Given the description of an element on the screen output the (x, y) to click on. 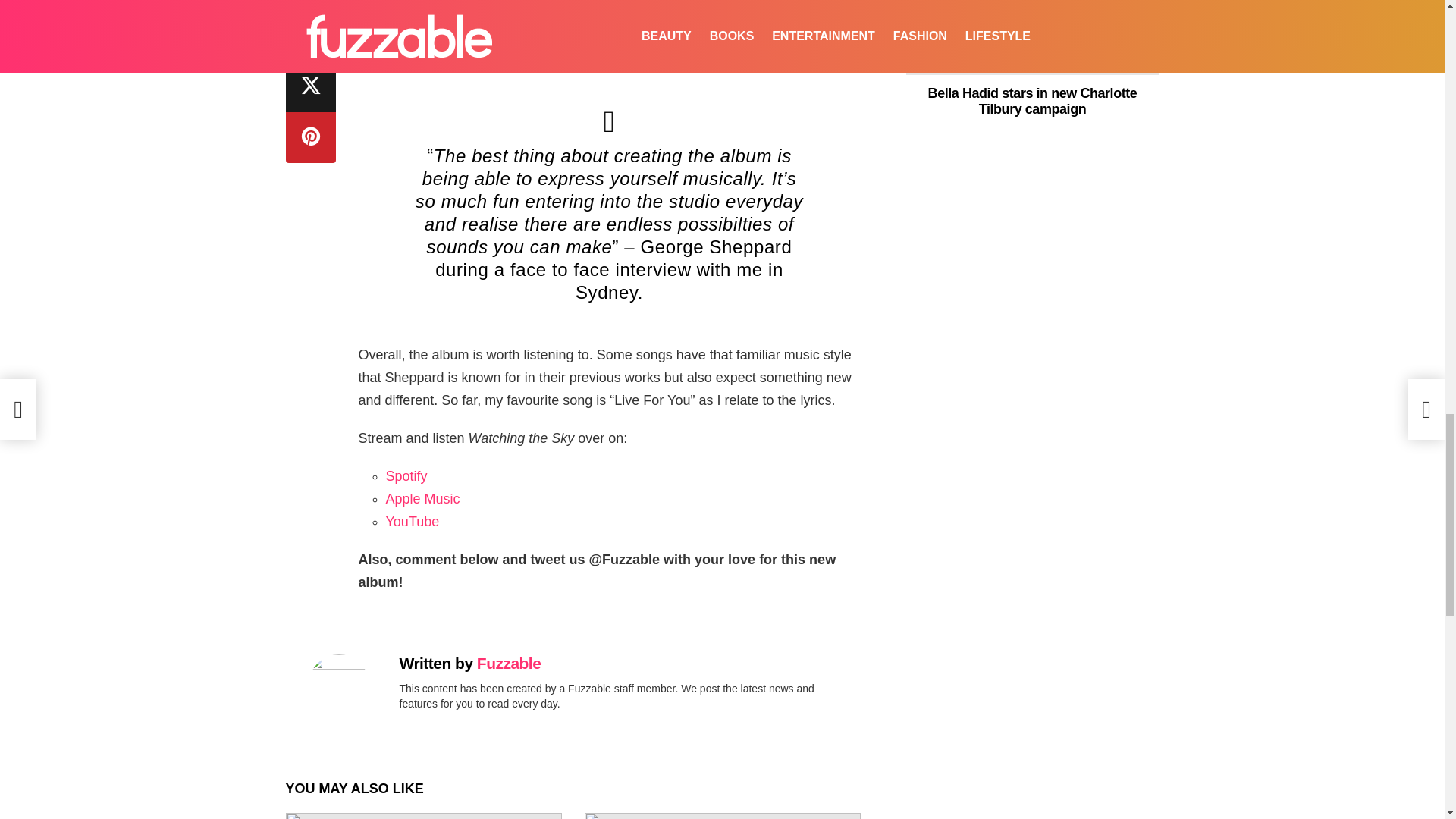
Spotify (405, 476)
YouTube (412, 521)
Bella Hadid stars in new Charlotte Tilbury campaign (1031, 37)
Apple Music (422, 498)
Fuzzable (508, 662)
